Given the description of an element on the screen output the (x, y) to click on. 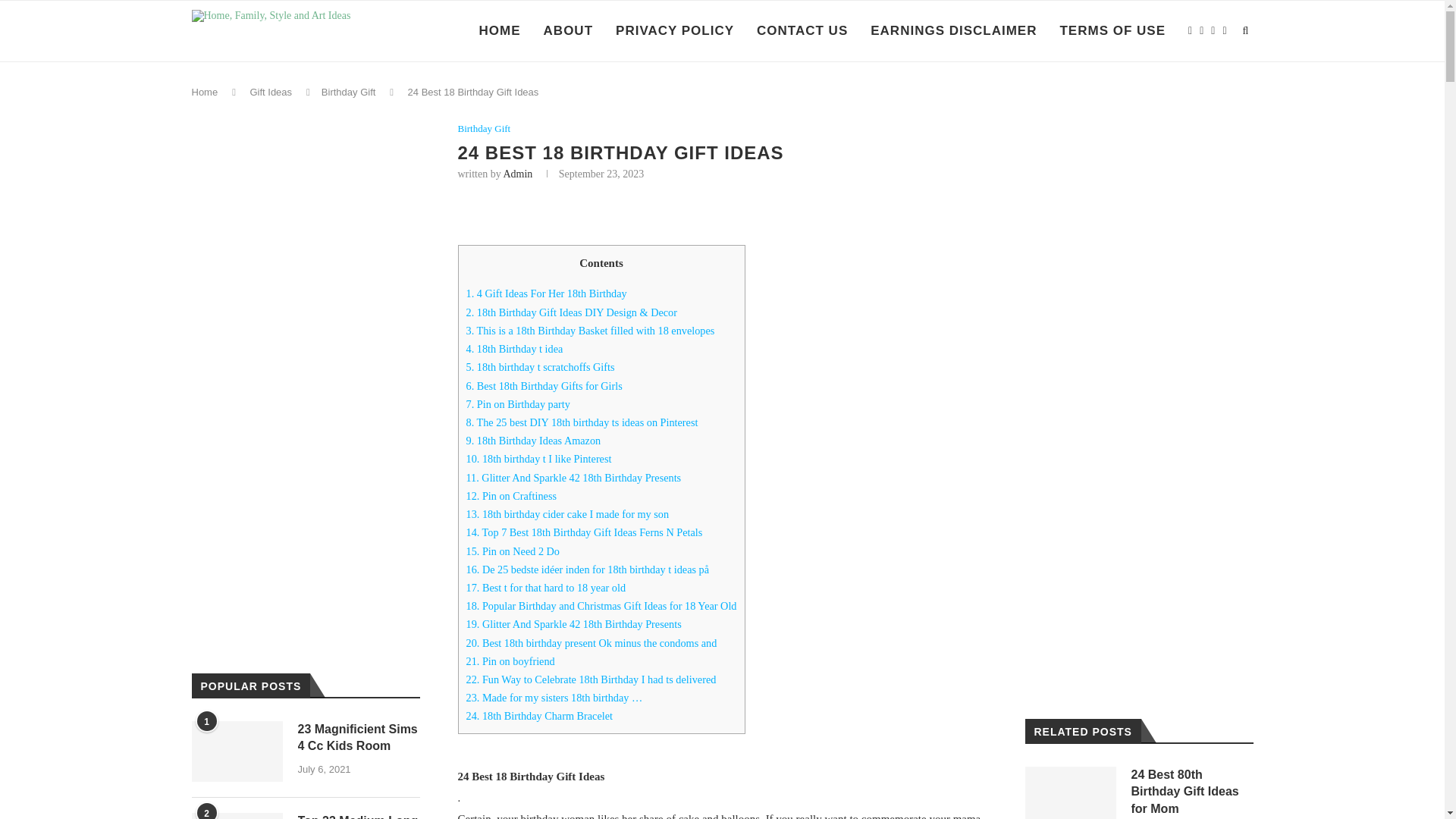
Gift Ideas (270, 91)
PRIVACY POLICY (674, 30)
4. 18th Birthday t idea (513, 348)
Birthday Gift (348, 91)
1. 4 Gift Ideas For Her 18th Birthday (545, 293)
Home (203, 91)
Birthday Gift (484, 128)
Admin (517, 173)
TERMS OF USE (1112, 30)
